Given the description of an element on the screen output the (x, y) to click on. 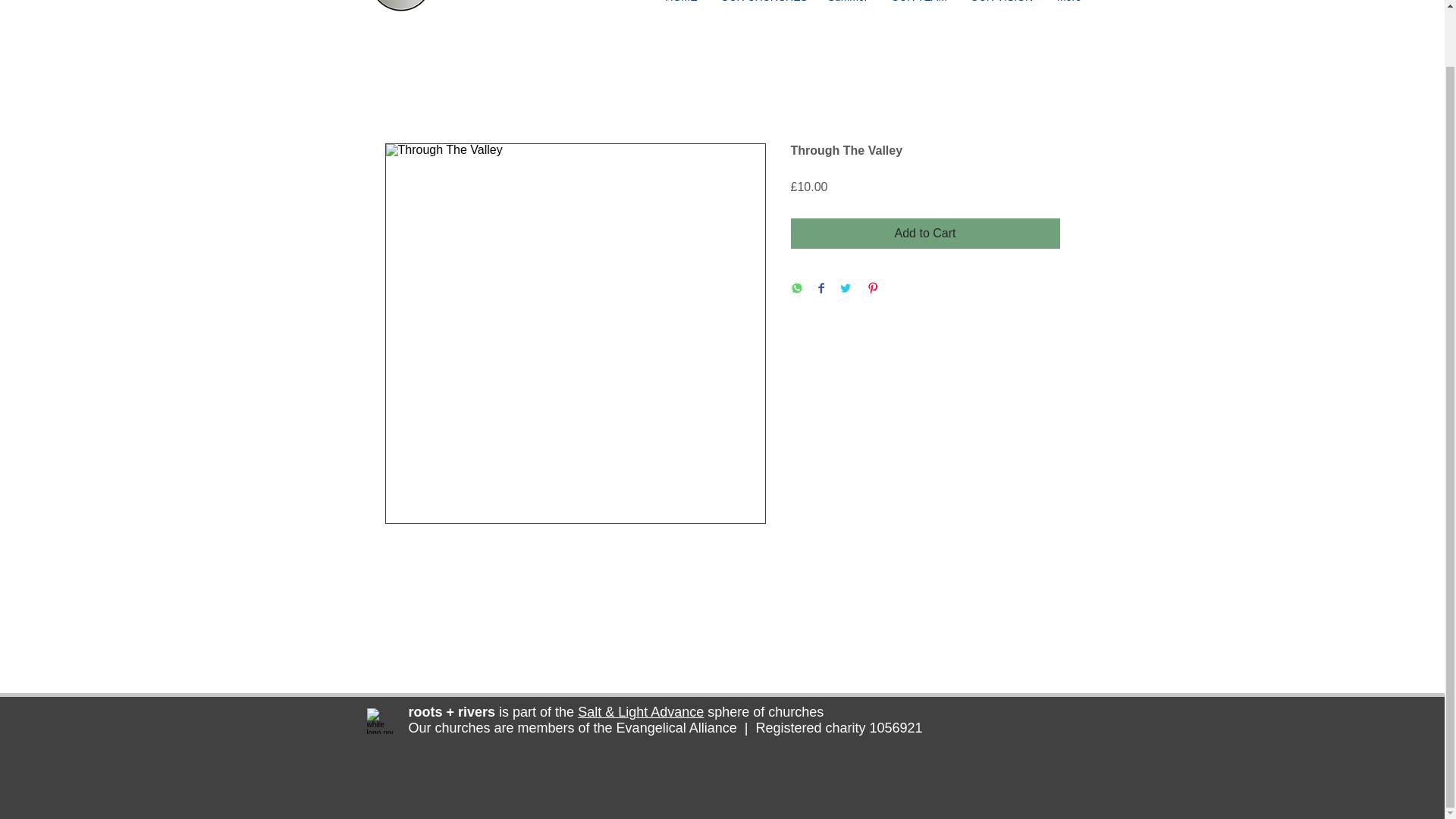
OUR TEAM (919, 1)
Add to Cart (924, 233)
OUR VISION (1000, 1)
Summer (847, 1)
HOME (681, 1)
OUR CHURCHES (763, 1)
